Given the description of an element on the screen output the (x, y) to click on. 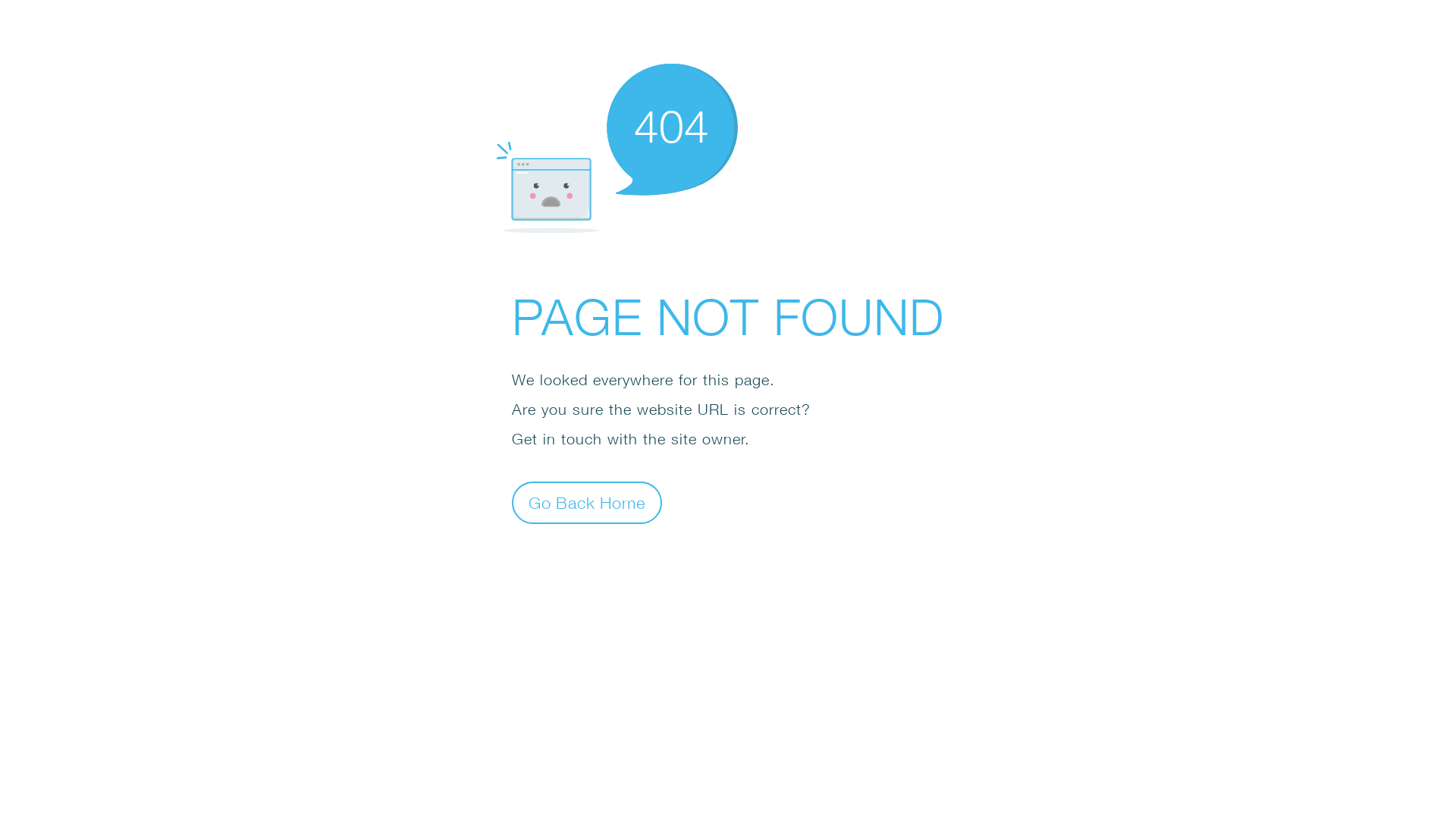
Go Back Home Element type: text (586, 502)
